Given the description of an element on the screen output the (x, y) to click on. 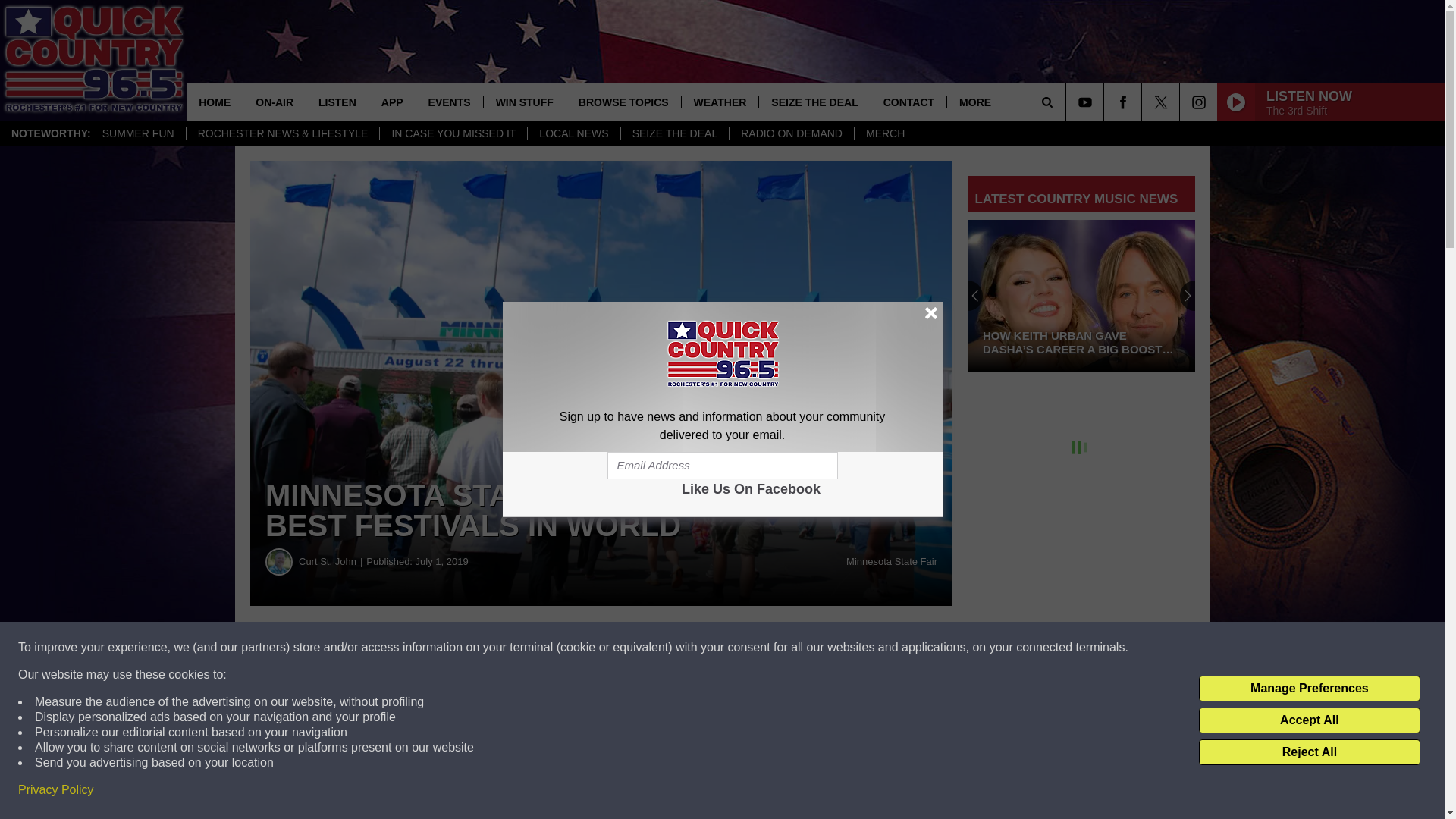
Reject All (1309, 751)
LISTEN (336, 102)
RADIO ON DEMAND (791, 133)
IN CASE YOU MISSED IT (452, 133)
HOME (214, 102)
SUMMER FUN (138, 133)
MERCH (884, 133)
Manage Preferences (1309, 688)
Email Address (722, 465)
ON-AIR (274, 102)
SEARCH (1068, 102)
SEARCH (1068, 102)
APP (391, 102)
Share on Facebook (460, 647)
Share on Twitter (741, 647)
